Given the description of an element on the screen output the (x, y) to click on. 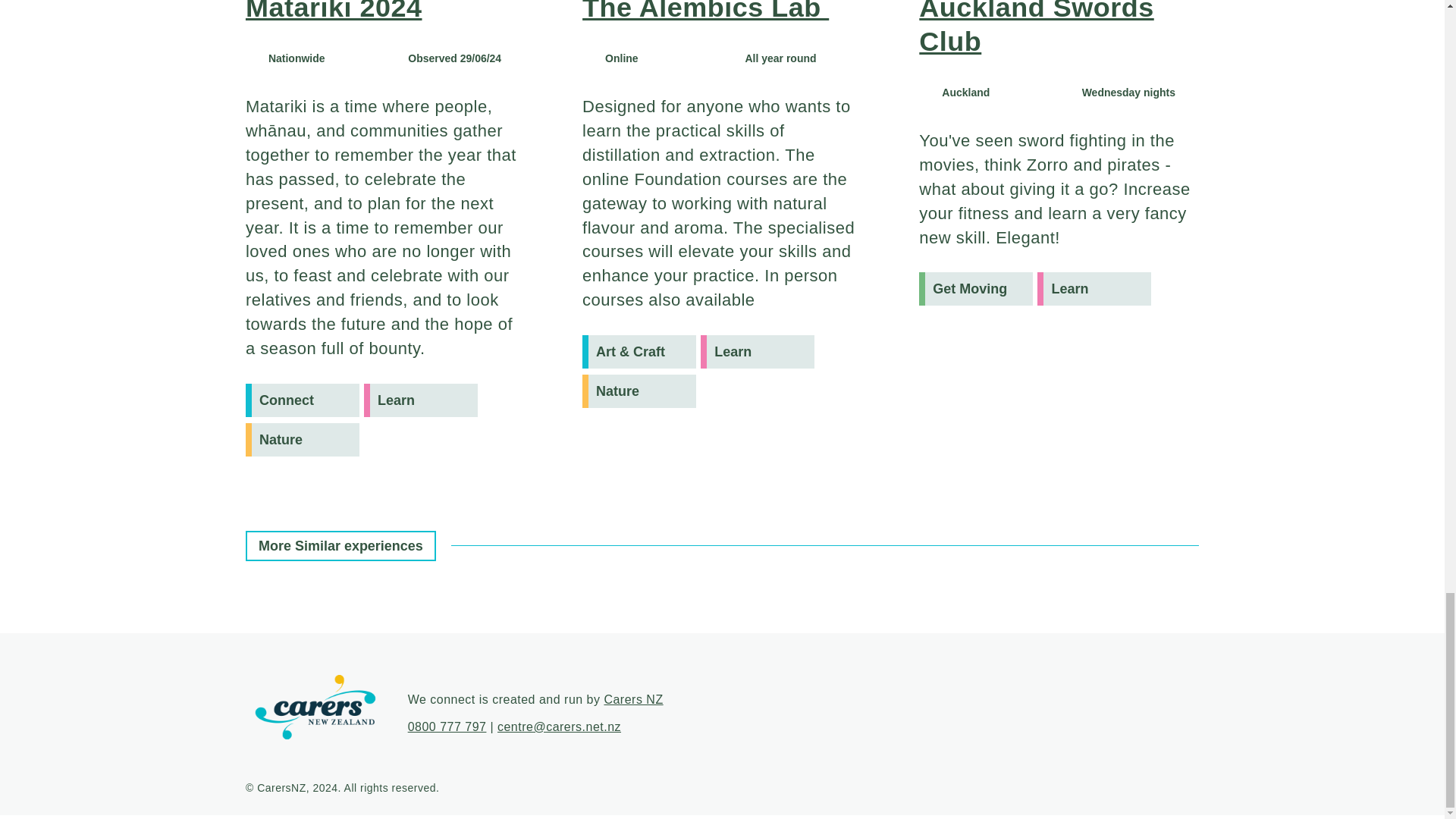
Matariki 2024 (334, 11)
Permanent Link to Auckland Swords Club (1035, 28)
Learn (420, 400)
Auckland Swords Club (1035, 28)
Permanent Link to Matariki 2024 (334, 11)
Learn (1093, 288)
Carers NZ (633, 698)
Get Moving (975, 288)
Learn (756, 351)
0800 777 797 (446, 726)
The Alembics Lab  (705, 11)
Connect (302, 400)
Nature (302, 439)
Nature (638, 390)
